Given the description of an element on the screen output the (x, y) to click on. 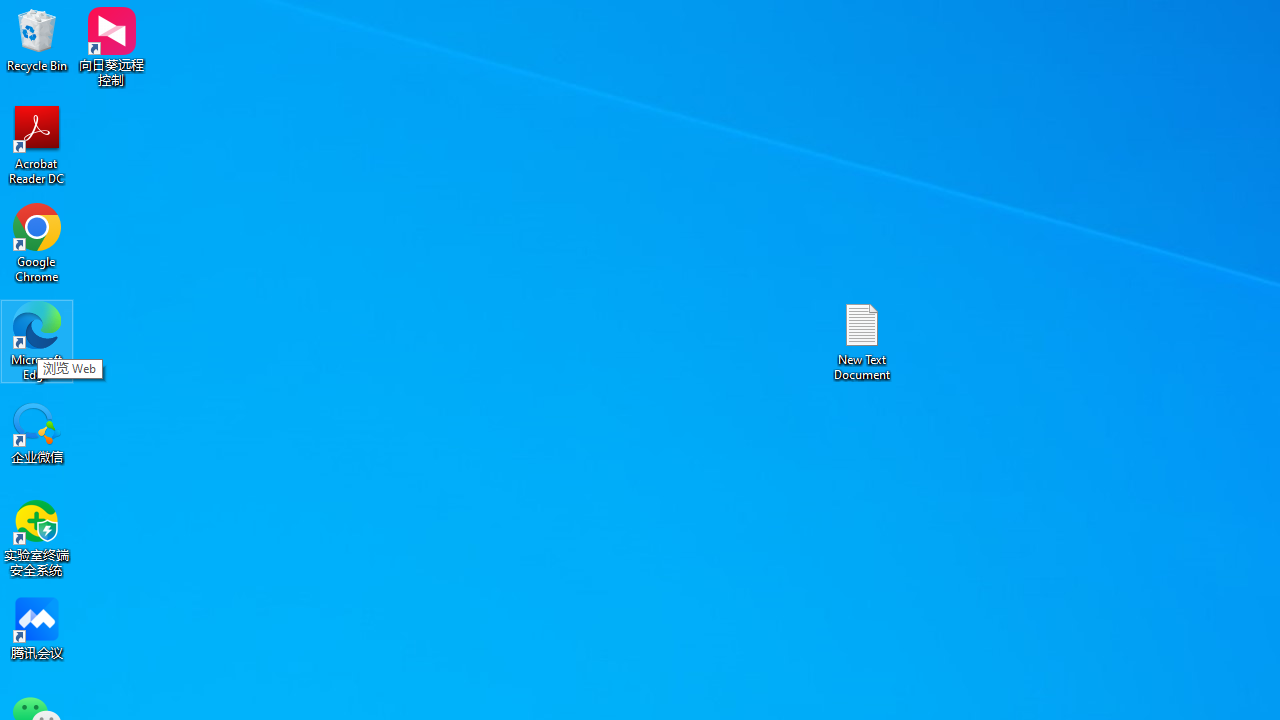
New Text Document (861, 340)
Acrobat Reader DC (37, 144)
Recycle Bin (37, 39)
Google Chrome (37, 242)
Microsoft Edge (37, 340)
